Given the description of an element on the screen output the (x, y) to click on. 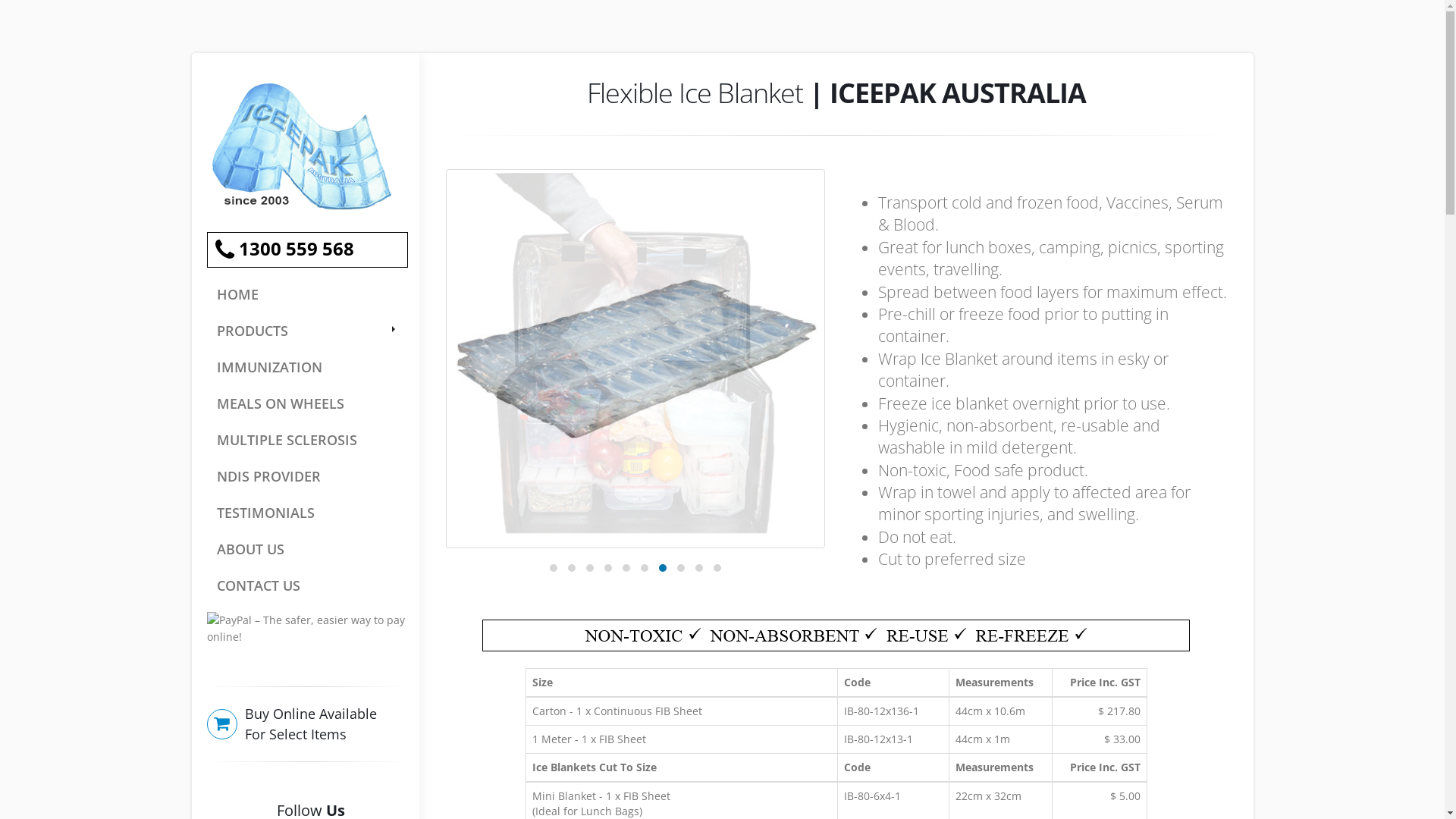
1300 559 568 Element type: text (306, 249)
MULTIPLE SCLEROSIS Element type: text (306, 440)
PRODUCTS Element type: text (306, 330)
NDIS PROVIDER Element type: text (306, 476)
CONTACT US Element type: text (306, 585)
HOME Element type: text (306, 294)
ABOUT US Element type: text (306, 549)
TESTIMONIALS Element type: text (306, 512)
IMMUNIZATION Element type: text (306, 367)
MEALS ON WHEELS Element type: text (306, 403)
